Given the description of an element on the screen output the (x, y) to click on. 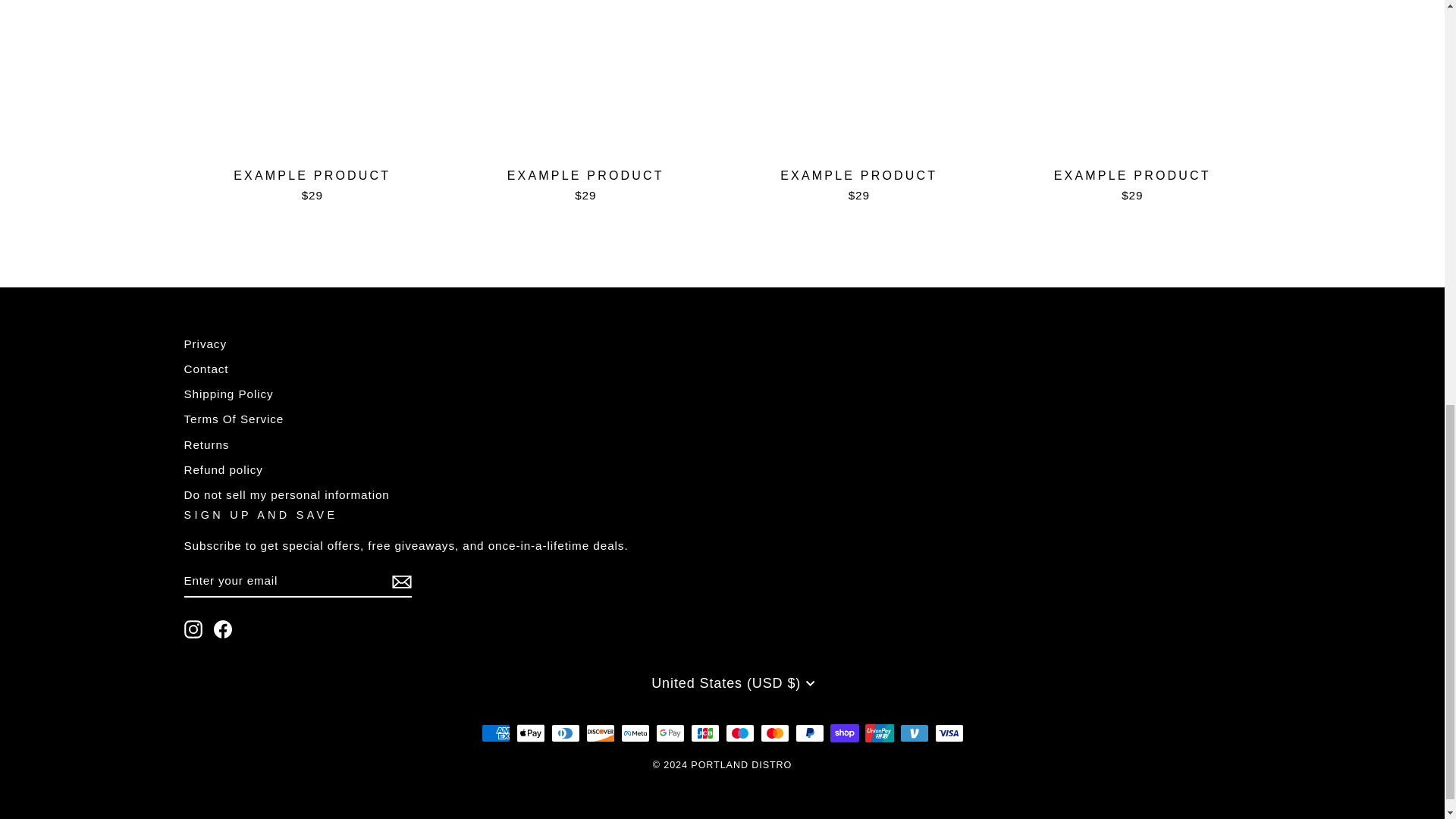
PORTLAND DISTRO on Facebook (222, 628)
Diners Club (564, 732)
Discover (599, 732)
instagram (192, 628)
icon-email (400, 581)
Meta Pay (634, 732)
Apple Pay (529, 732)
Google Pay (669, 732)
PORTLAND DISTRO on Instagram (192, 628)
JCB (704, 732)
